Given the description of an element on the screen output the (x, y) to click on. 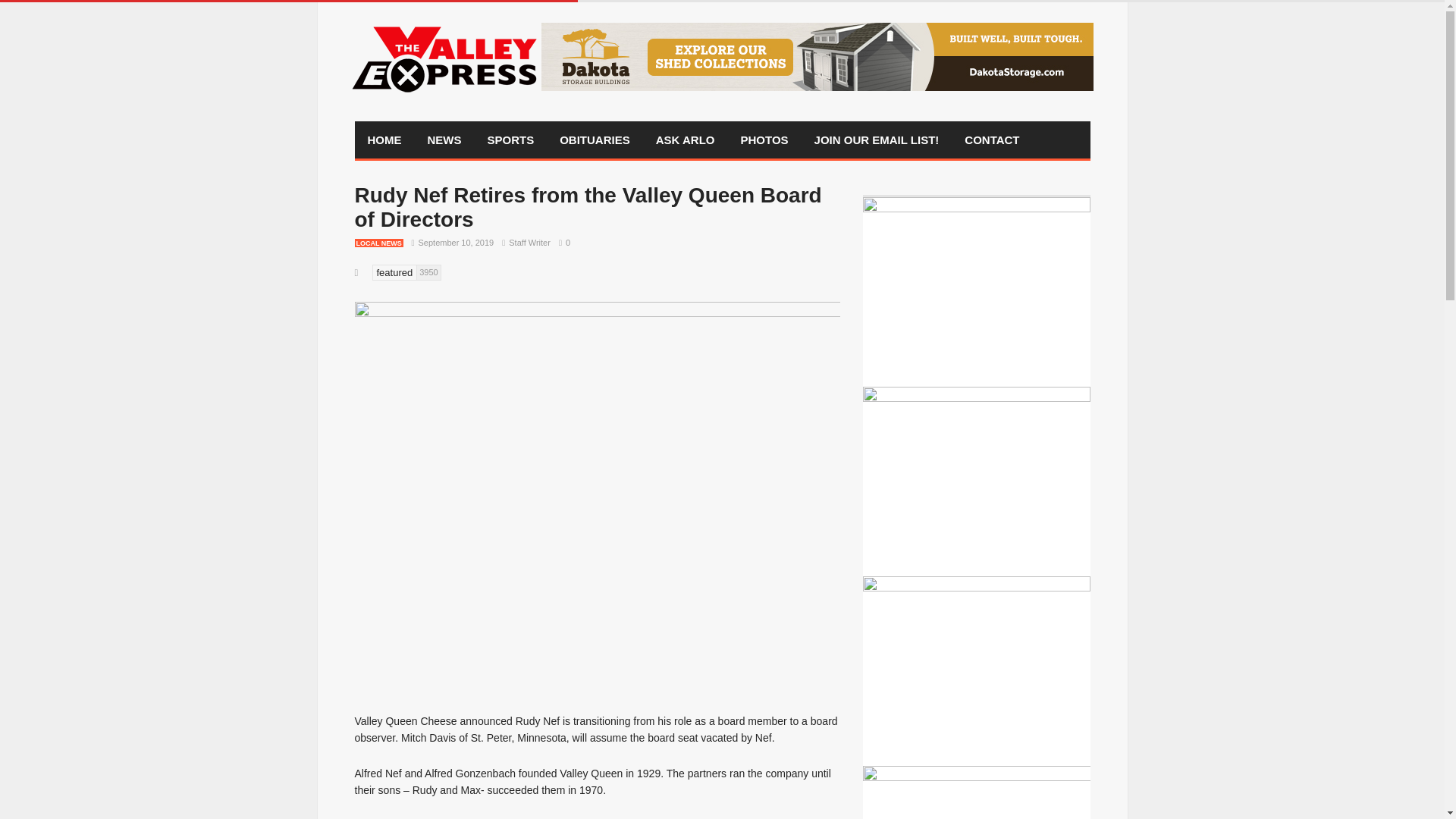
Home (384, 139)
Photos (763, 139)
News (443, 139)
Rudy Nef Retires from the Valley Queen Board of Directors (588, 206)
Post Comment (77, 9)
Sports (510, 139)
SPORTS (510, 139)
0 (561, 242)
Ask Arlo (685, 139)
ASK ARLO (685, 139)
JOIN OUR EMAIL LIST! (877, 139)
Contact (992, 139)
LOCAL NEWS (379, 243)
Join Our Email List! (877, 139)
PHOTOS (763, 139)
